Given the description of an element on the screen output the (x, y) to click on. 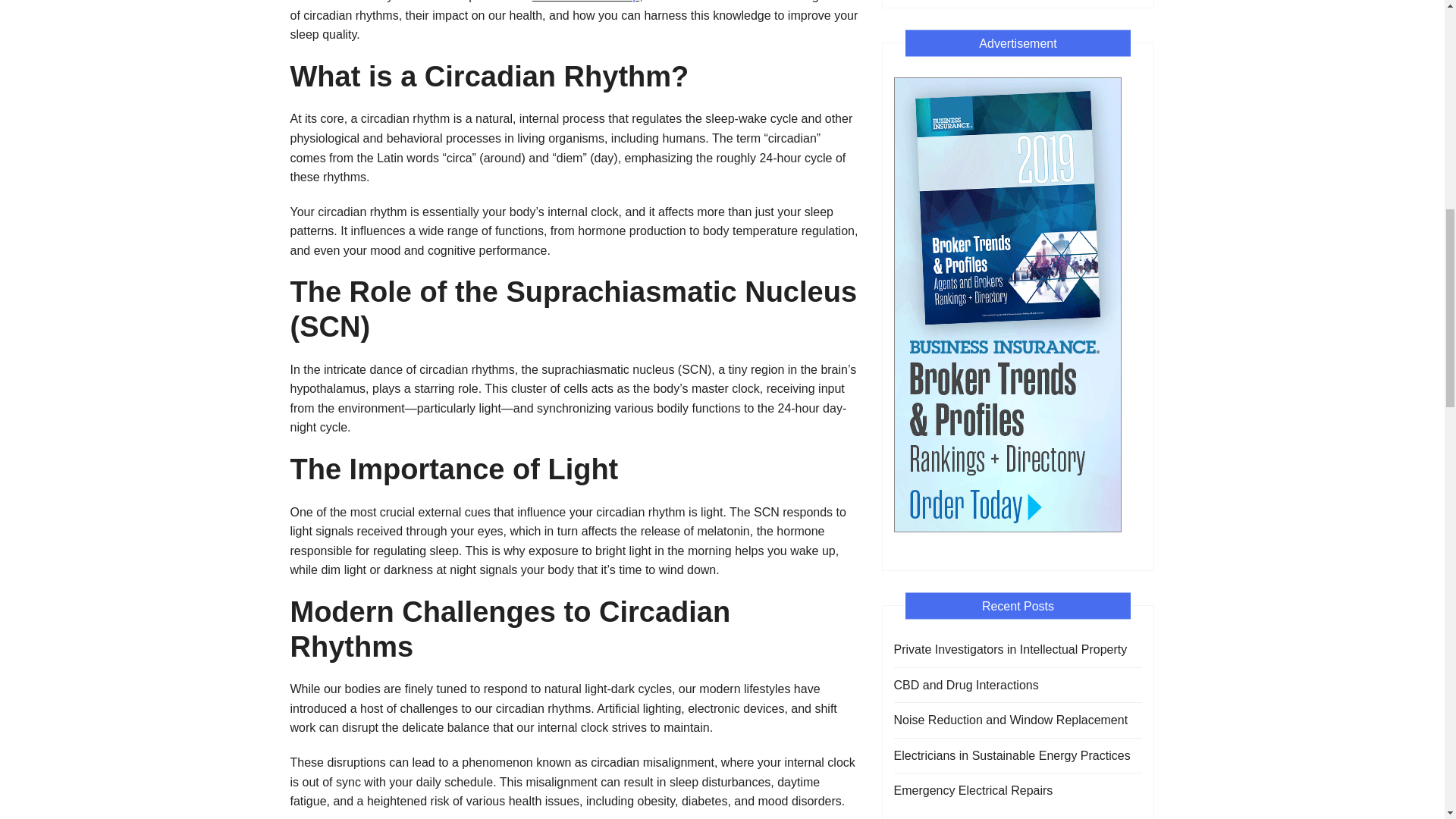
CBD and Drug Interactions (965, 685)
the science of sleep (585, 1)
Emergency Electrical Repairs (972, 790)
Noise Reduction and Window Replacement (1009, 720)
Private Investigators in Intellectual Property (1009, 649)
Electricians in Sustainable Energy Practices (1011, 755)
